Given the description of an element on the screen output the (x, y) to click on. 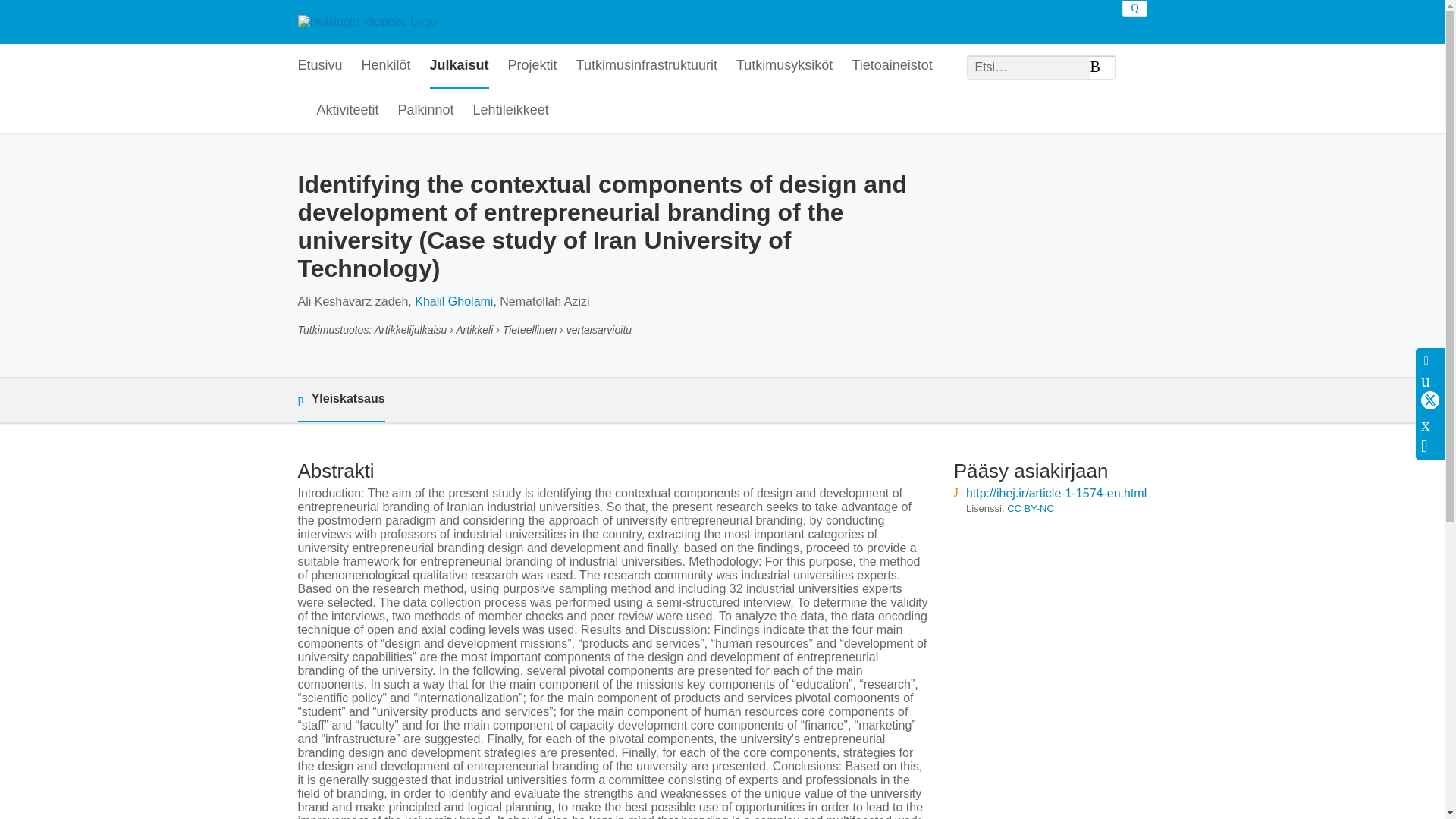
CC BY-NC (1030, 508)
Projektit (532, 66)
Helsingin yliopisto Etusivu (366, 21)
Khalil Gholami (453, 300)
Yleiskatsaus (340, 399)
Palkinnot (425, 110)
Lehtileikkeet (510, 110)
Julkaisut (459, 66)
Tietoaineistot (891, 66)
Tutkimusinfrastruktuurit (646, 66)
Etusivu (319, 66)
Aktiviteetit (347, 110)
